Given the description of an element on the screen output the (x, y) to click on. 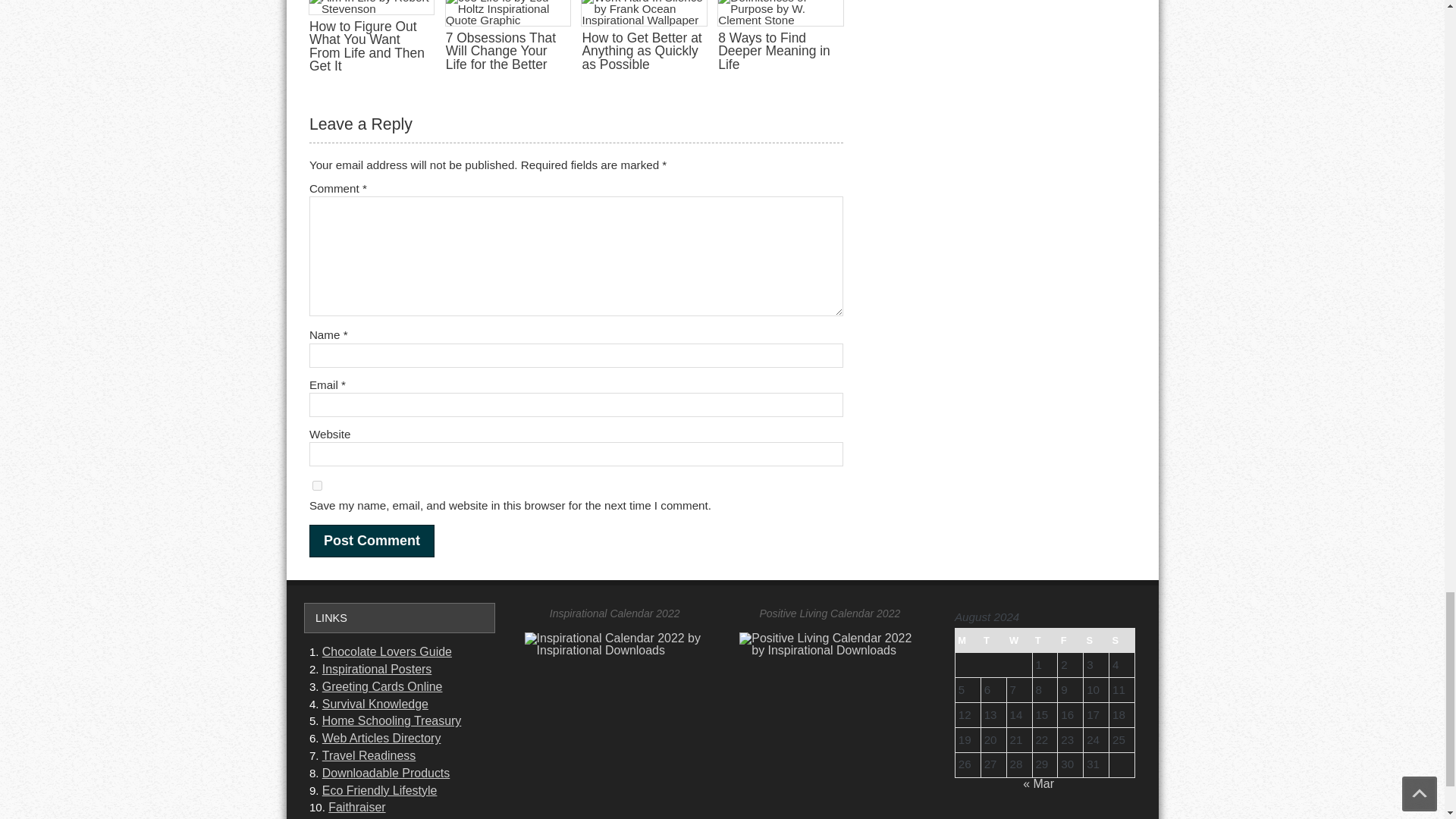
Post Comment (370, 540)
yes (317, 485)
